Given the description of an element on the screen output the (x, y) to click on. 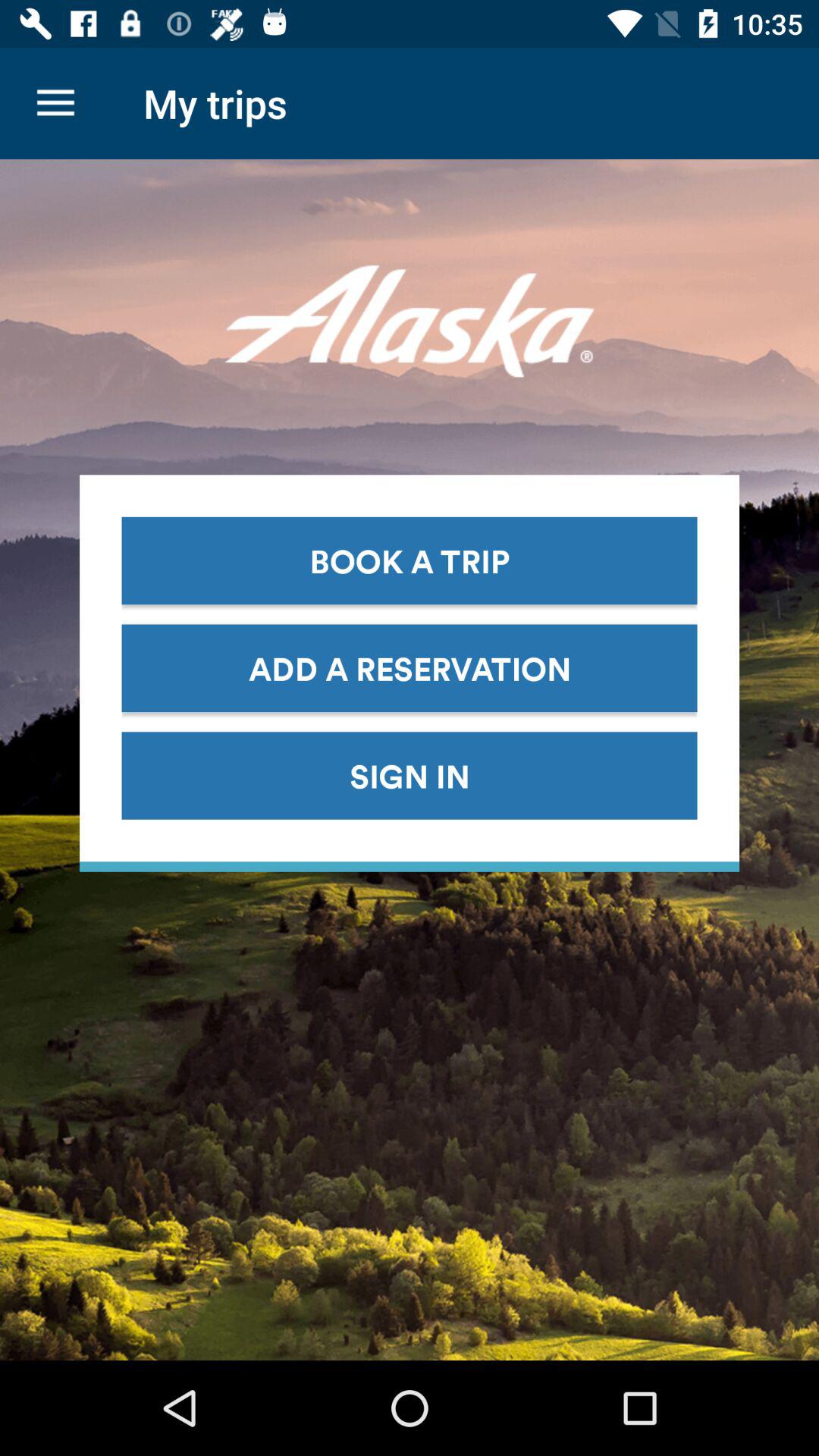
turn off the icon below add a reservation item (409, 775)
